Given the description of an element on the screen output the (x, y) to click on. 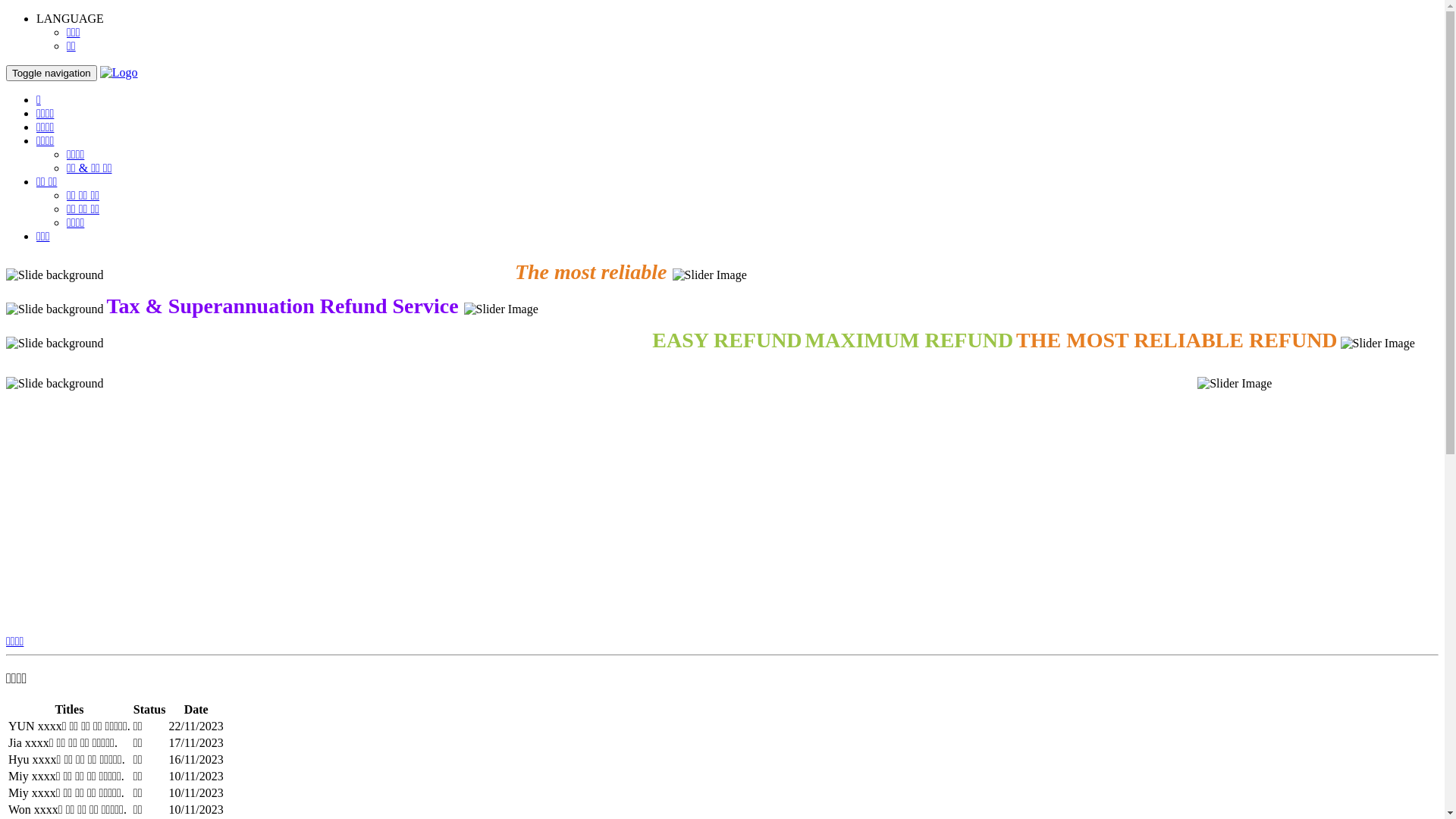
Toggle navigation Element type: text (51, 73)
LANGUAGE Element type: text (69, 18)
